Given the description of an element on the screen output the (x, y) to click on. 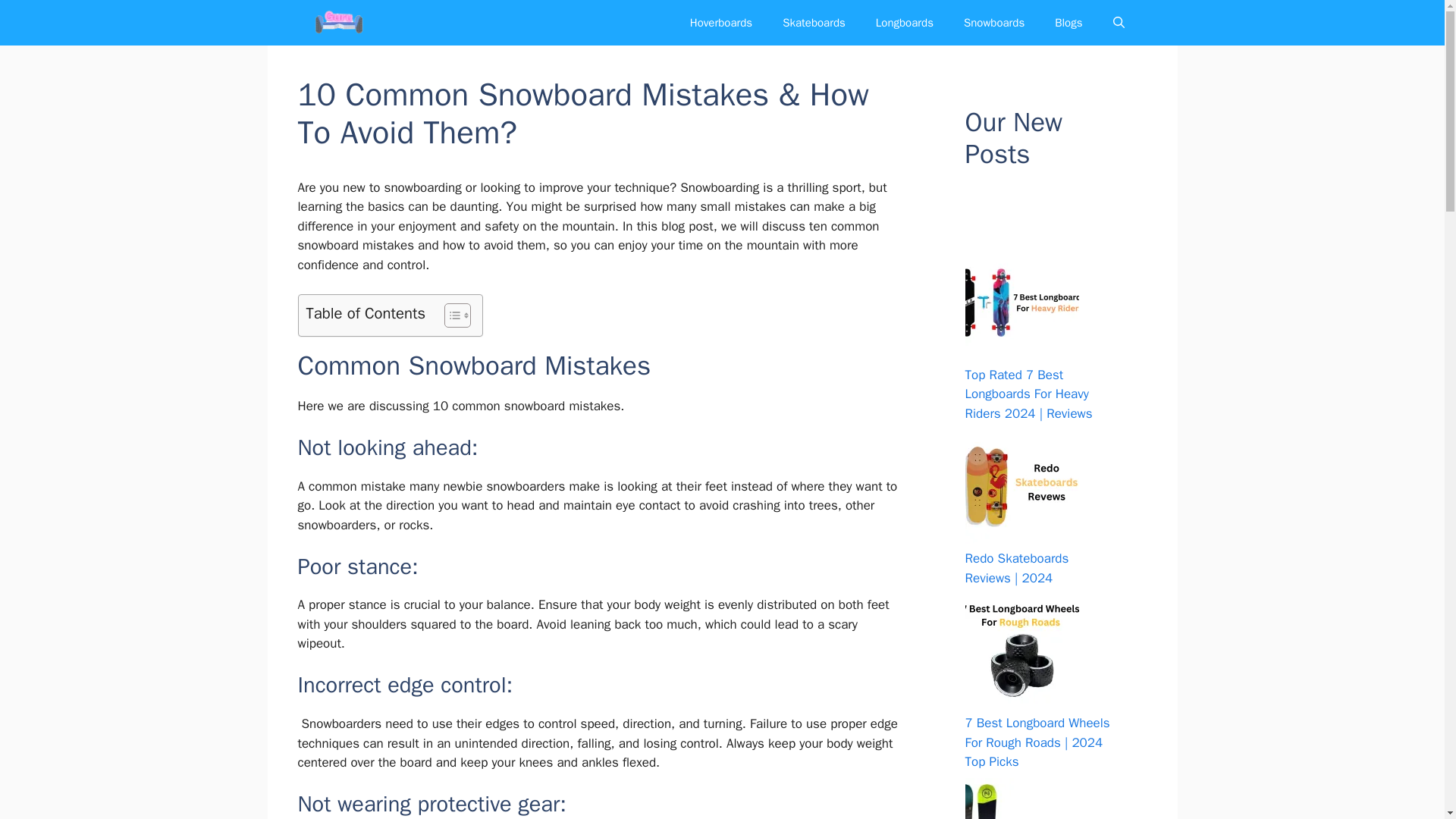
Best Hoverboard Guru (336, 22)
Blogs (1068, 22)
Longboards (904, 22)
Hoverboards (721, 22)
Skateboards (813, 22)
Snowboards (994, 22)
